Given the description of an element on the screen output the (x, y) to click on. 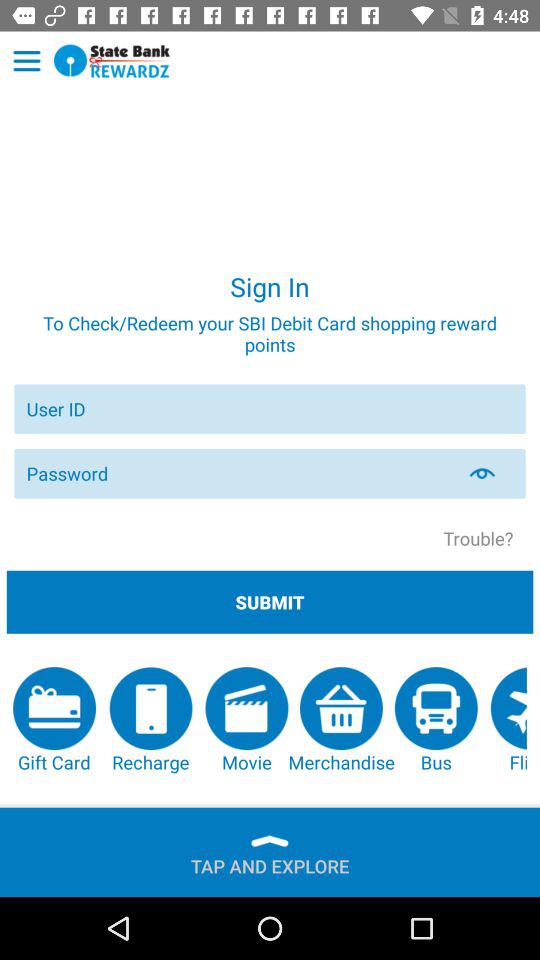
choose flight (508, 720)
